Given the description of an element on the screen output the (x, y) to click on. 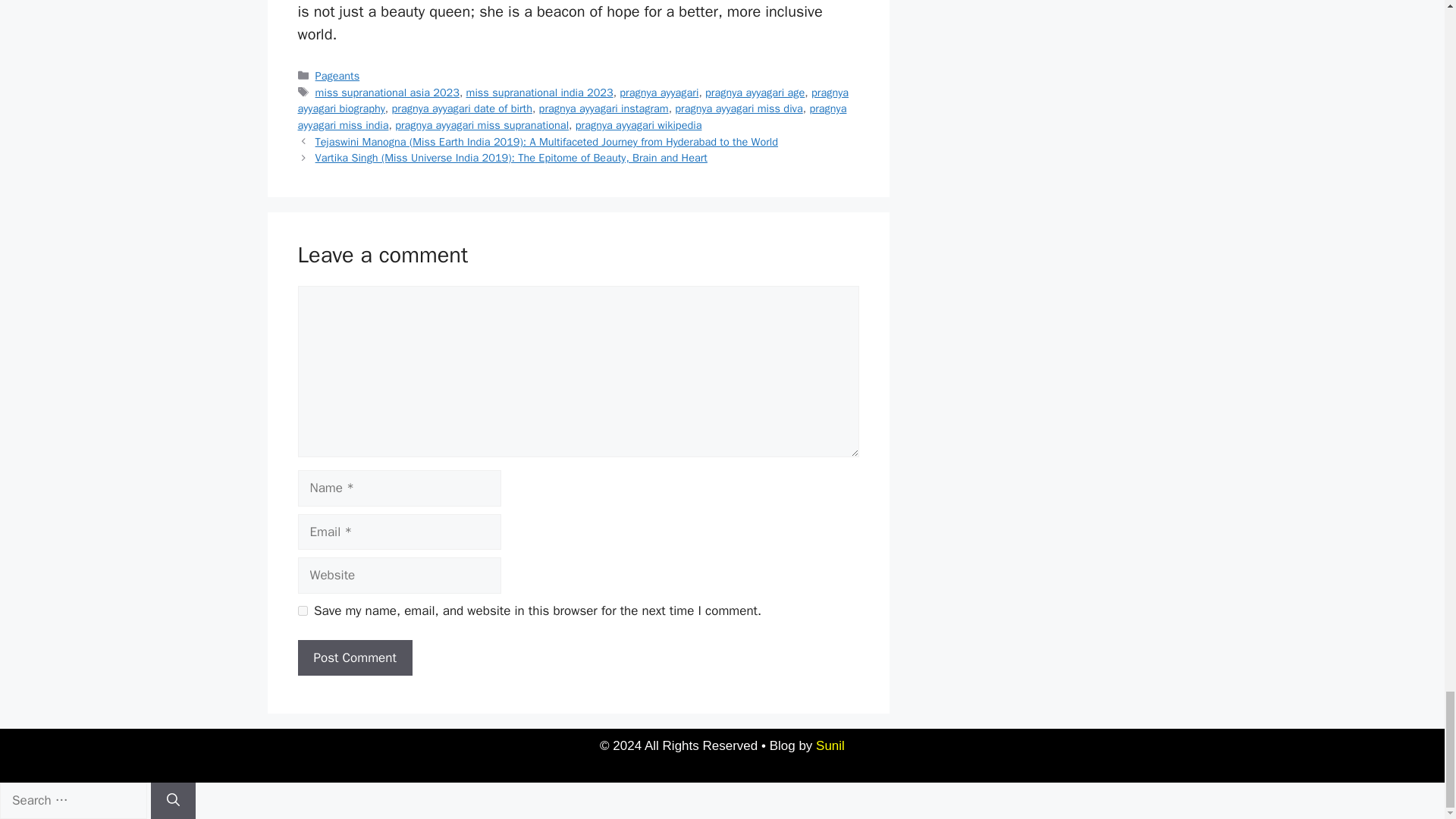
Pageants (337, 75)
pragnya ayyagari age (754, 92)
Post Comment (354, 657)
pragnya ayyagari instagram (603, 108)
yes (302, 610)
miss supranational asia 2023 (387, 92)
pragnya ayyagari biography (572, 100)
miss supranational india 2023 (538, 92)
pragnya ayyagari date of birth (461, 108)
pragnya ayyagari (659, 92)
pragnya ayyagari miss diva (738, 108)
pragnya ayyagari miss india (571, 116)
